Given the description of an element on the screen output the (x, y) to click on. 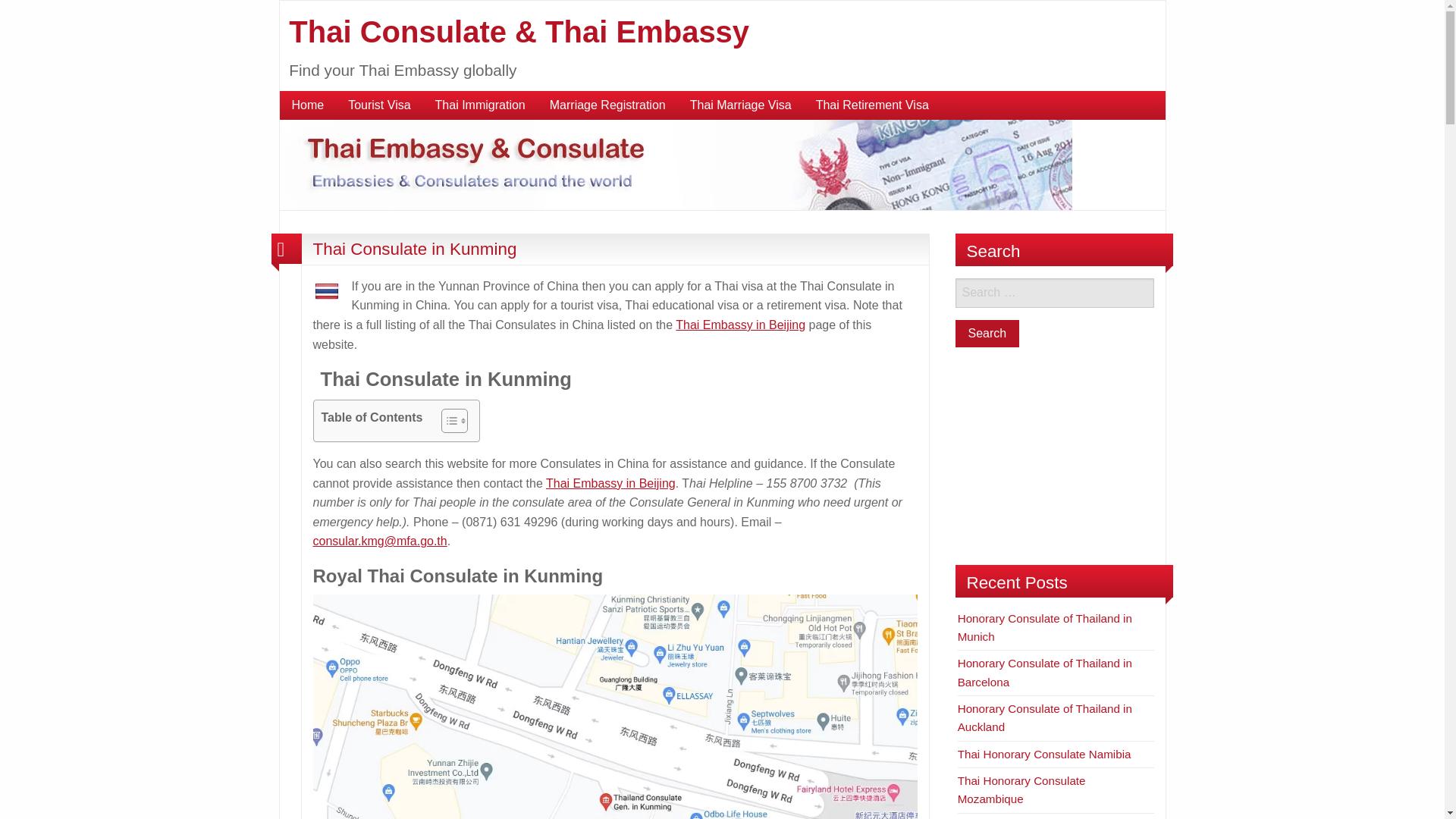
Search (987, 333)
Search (987, 333)
Marriage Registration (607, 104)
Thai Marriage Visa (740, 104)
Thai Retirement Visa (871, 104)
Thai Immigration (480, 104)
Tourist Visa (379, 104)
Home (307, 104)
Thai Embassy in Beijing (740, 324)
Thai Embassy in Beijing (610, 482)
